Given the description of an element on the screen output the (x, y) to click on. 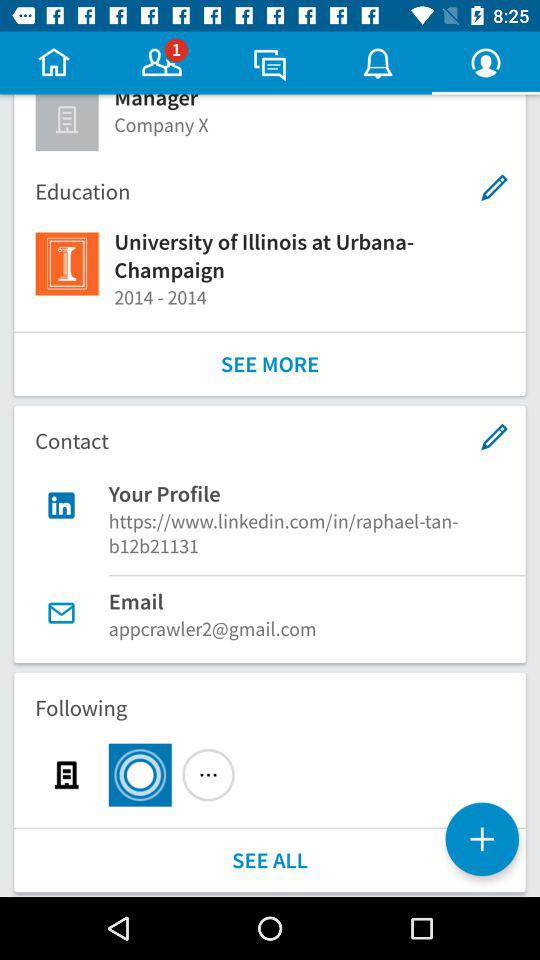
click on home page icon button (53, 62)
